Given the description of an element on the screen output the (x, y) to click on. 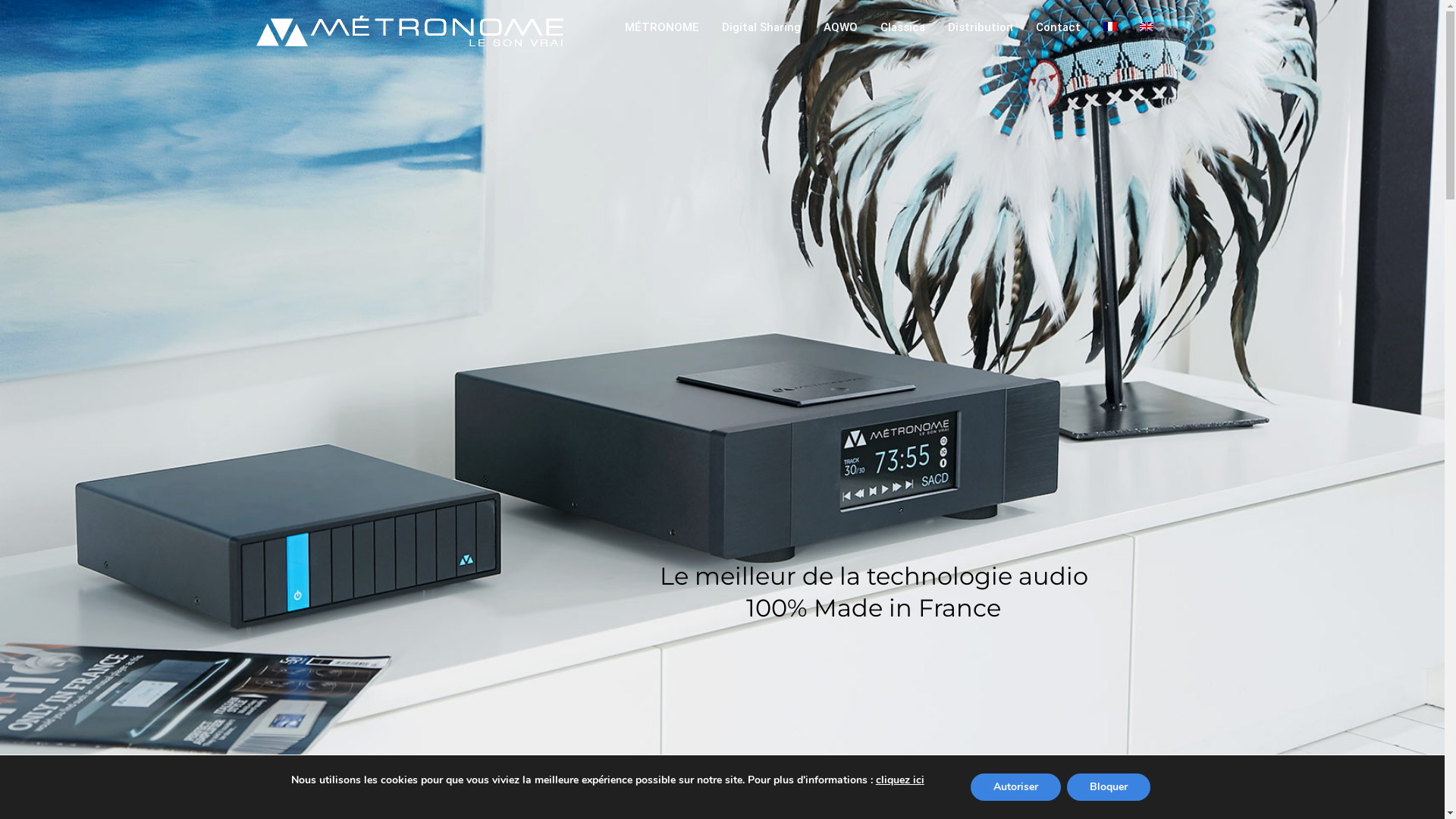
franz@metronome-technologie.fr Element type: text (897, 659)
sales@metronome-technologie.fr Element type: text (712, 607)
Distribution Element type: text (980, 27)
Classica Element type: text (902, 27)
jlewins@jslapac.com Element type: text (1037, 641)
cliquez ici Element type: text (899, 779)
Contact Element type: text (1057, 27)
Contactez-nous Element type: text (335, 594)
Bloquer Element type: text (1108, 786)
Digital Sharing Element type: text (760, 27)
MA GARANTIE Element type: text (332, 671)
AQWO Element type: text (840, 27)
Autoriser Element type: text (1015, 786)
contact@metronome.audio Element type: text (493, 735)
